Given the description of an element on the screen output the (x, y) to click on. 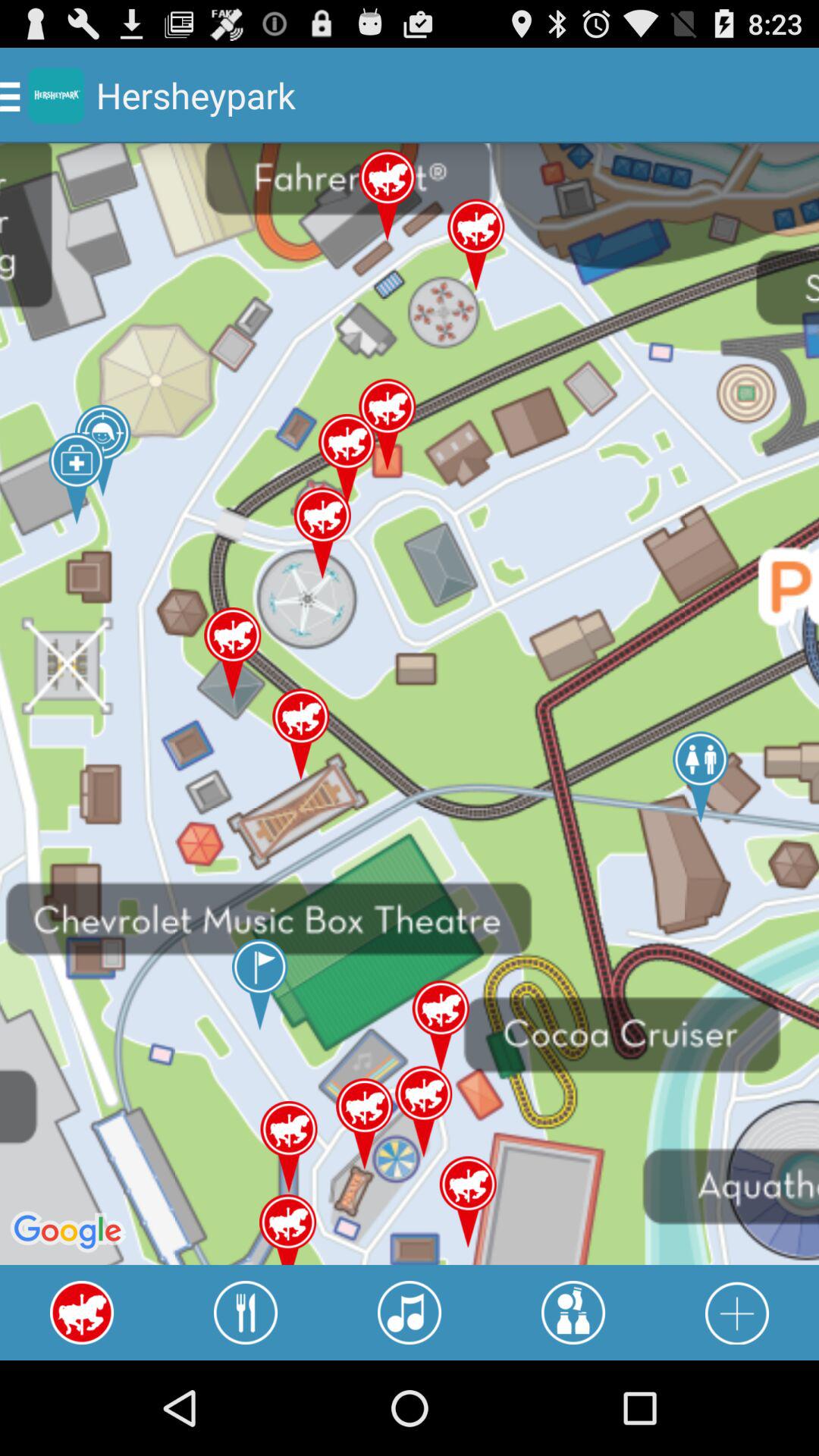
activity locations (573, 1312)
